Given the description of an element on the screen output the (x, y) to click on. 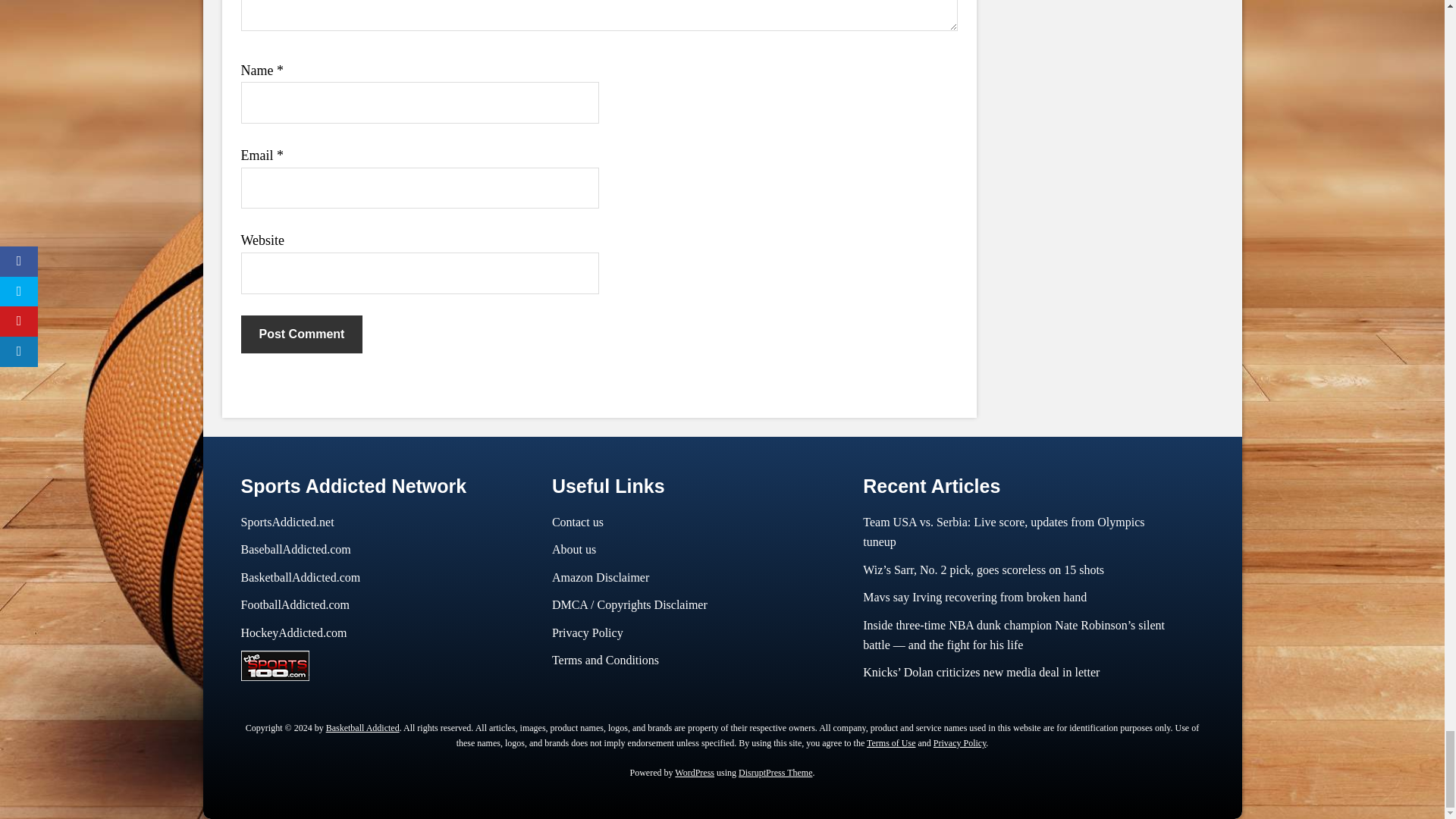
Post Comment (301, 333)
